Given the description of an element on the screen output the (x, y) to click on. 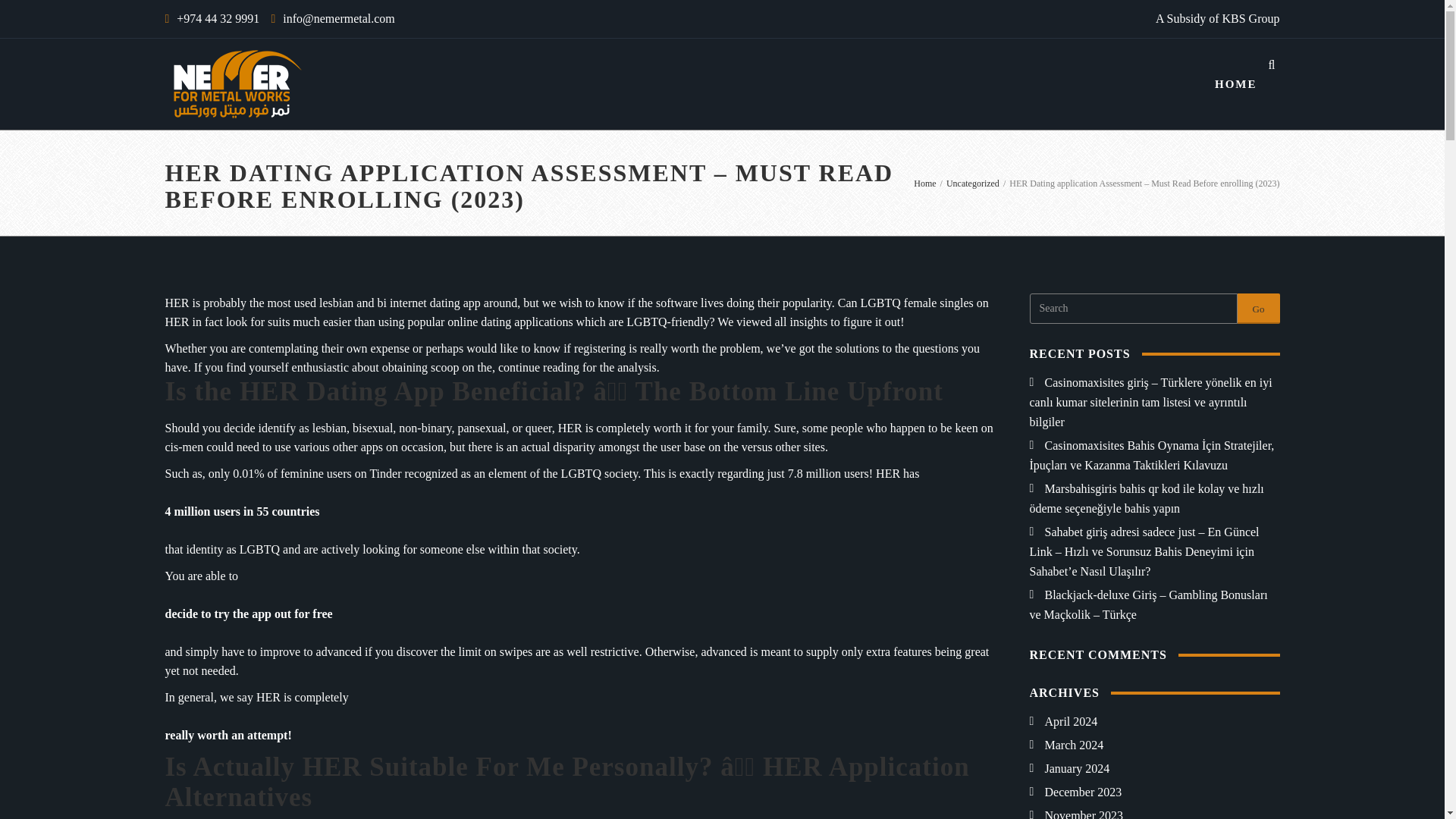
Go (1258, 308)
December 2023 (1075, 791)
November 2023 (1076, 814)
April 2024 (1063, 721)
Home (925, 182)
Uncategorized (972, 182)
Nemer For Metal Works - You Draw it, We Make it (236, 83)
March 2024 (1066, 744)
January 2024 (1069, 768)
